Given the description of an element on the screen output the (x, y) to click on. 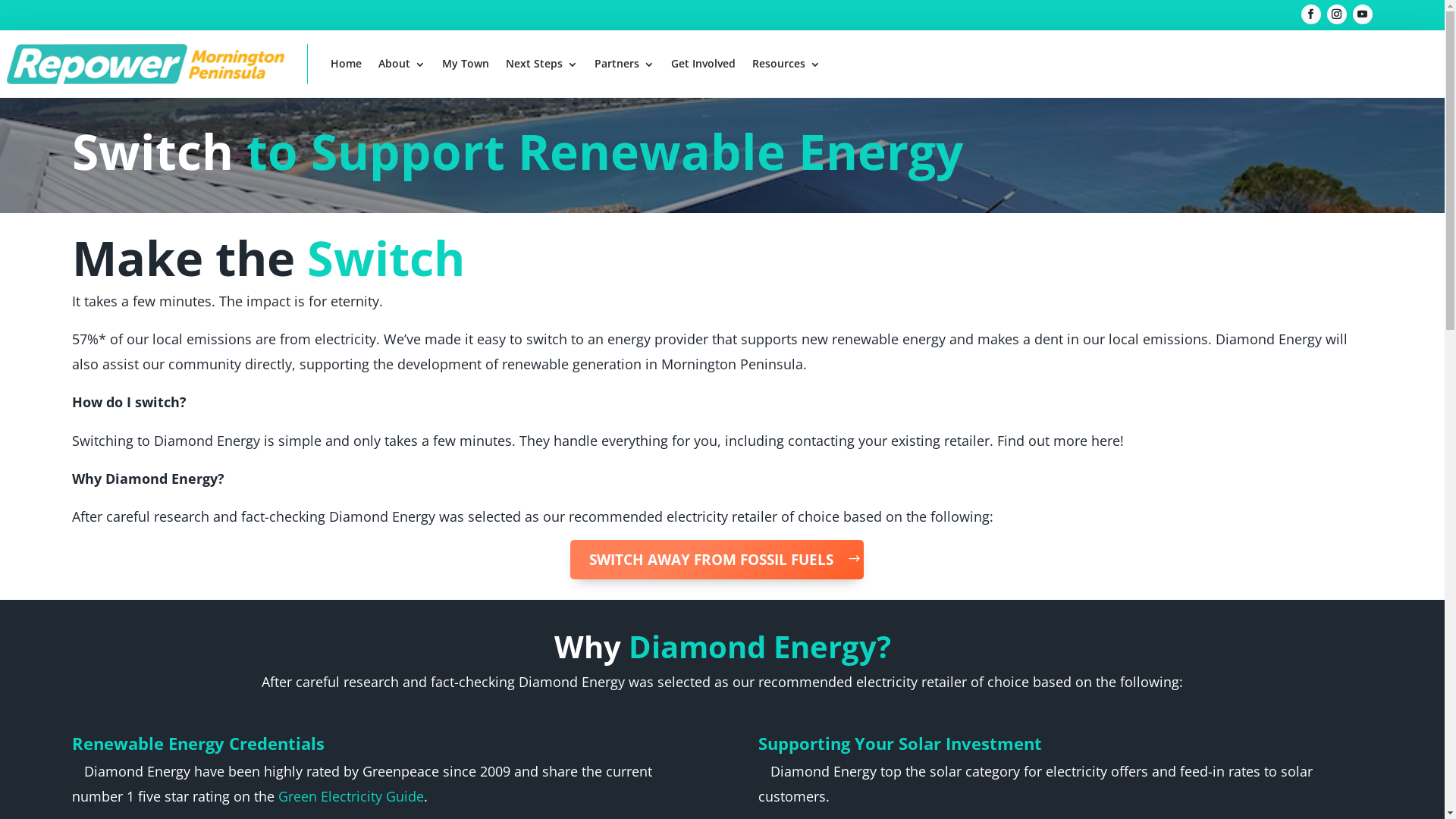
My Town Element type: text (465, 63)
Resources Element type: text (786, 63)
Follow on Instagram Element type: hover (1336, 14)
About Element type: text (401, 63)
Home Element type: text (345, 63)
Next Steps Element type: text (541, 63)
Partners Element type: text (624, 63)
Follow on Facebook Element type: hover (1311, 14)
SWITCH AWAY FROM FOSSIL FUELS Element type: text (716, 559)
Get Involved Element type: text (703, 63)
Follow on Youtube Element type: hover (1362, 14)
Green Electricity Guide Element type: text (350, 796)
